Given the description of an element on the screen output the (x, y) to click on. 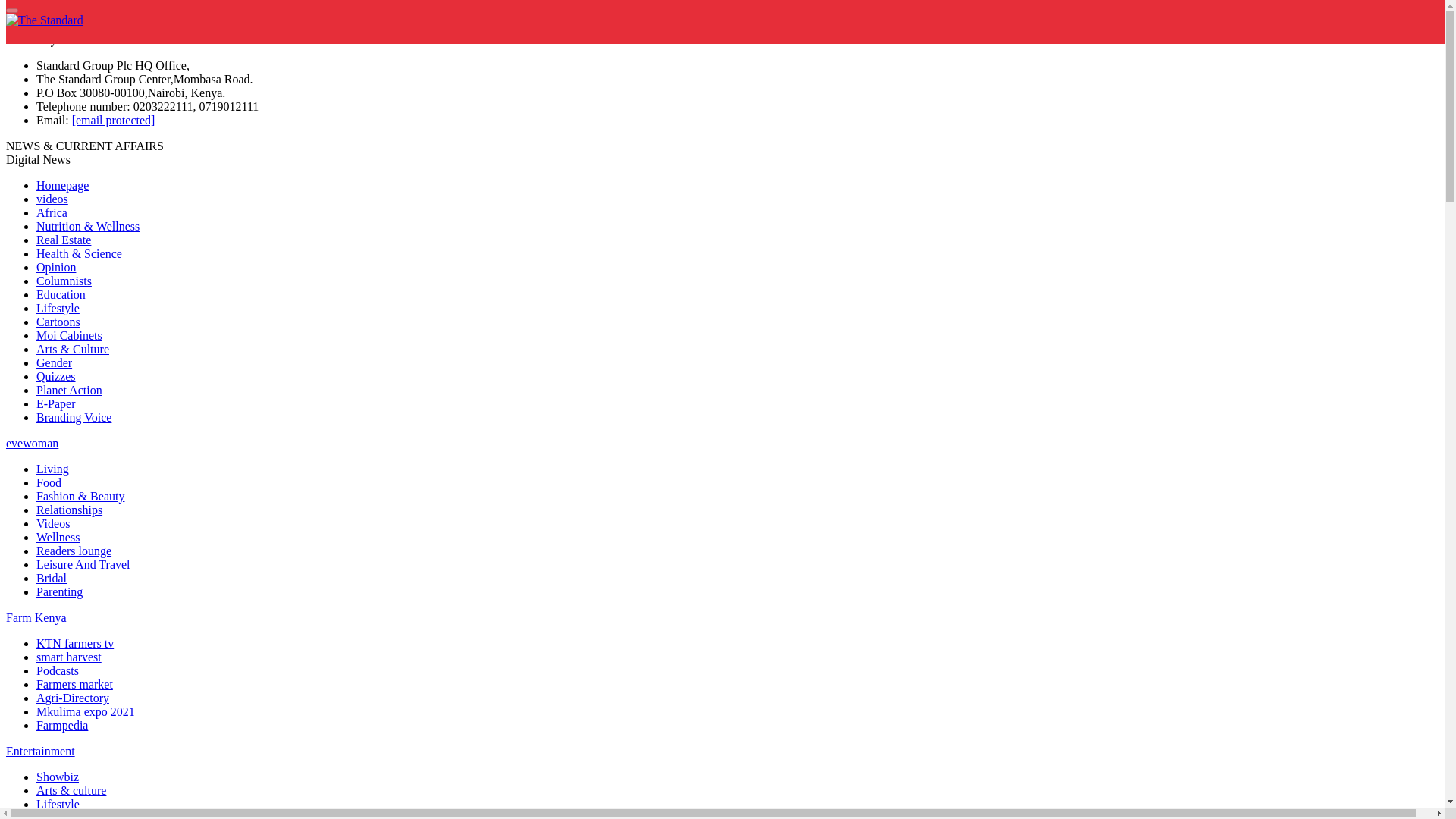
videos (52, 198)
Opinion (55, 267)
Videos (52, 522)
Food (48, 481)
Bridal (51, 577)
Africa (51, 212)
Leisure And Travel (83, 563)
Mkulima expo 2021 (85, 711)
